Given the description of an element on the screen output the (x, y) to click on. 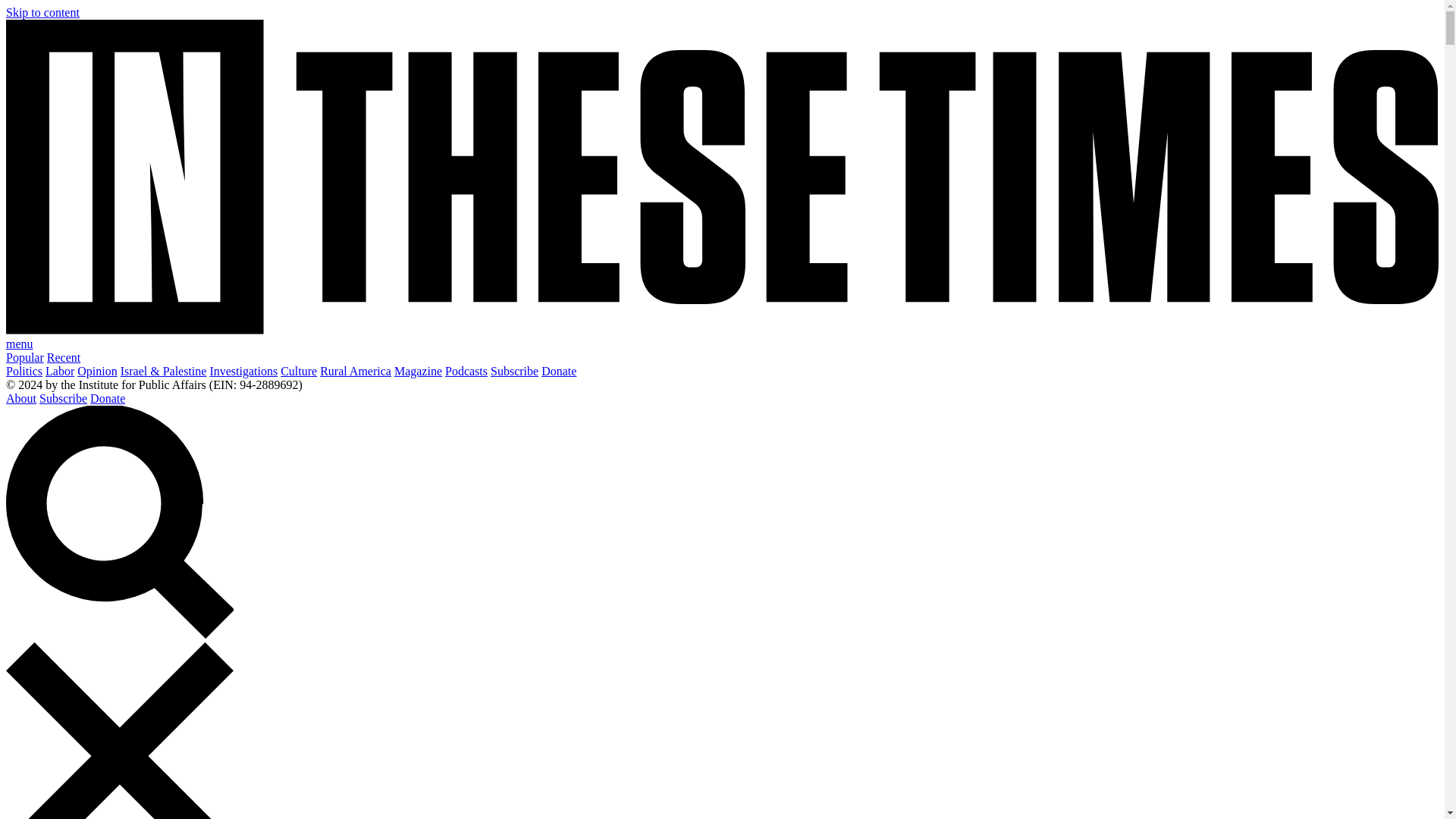
Labor (59, 370)
Popular (24, 357)
Magazine (418, 370)
Podcasts (466, 370)
About (20, 398)
Rural America (355, 370)
Recent (63, 357)
Culture (299, 370)
Subscribe (63, 398)
Opinion (96, 370)
search (118, 634)
search (118, 522)
Subscribe (514, 370)
close (118, 730)
Politics (23, 370)
